Given the description of an element on the screen output the (x, y) to click on. 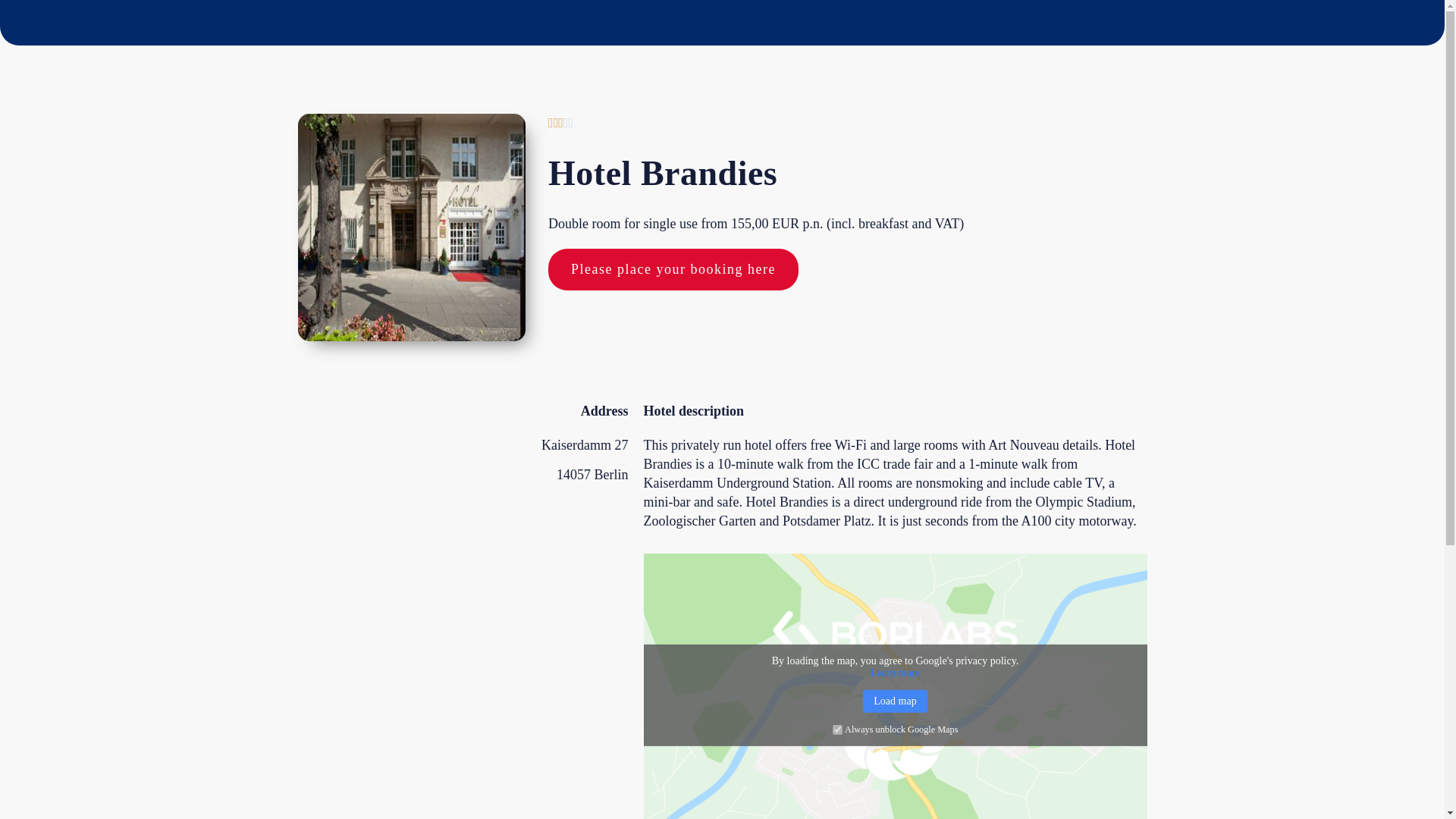
Open Cookie Preferences (32, 793)
1 (837, 729)
Load map (894, 701)
Please place your booking here (672, 269)
Learn more (895, 672)
